Given the description of an element on the screen output the (x, y) to click on. 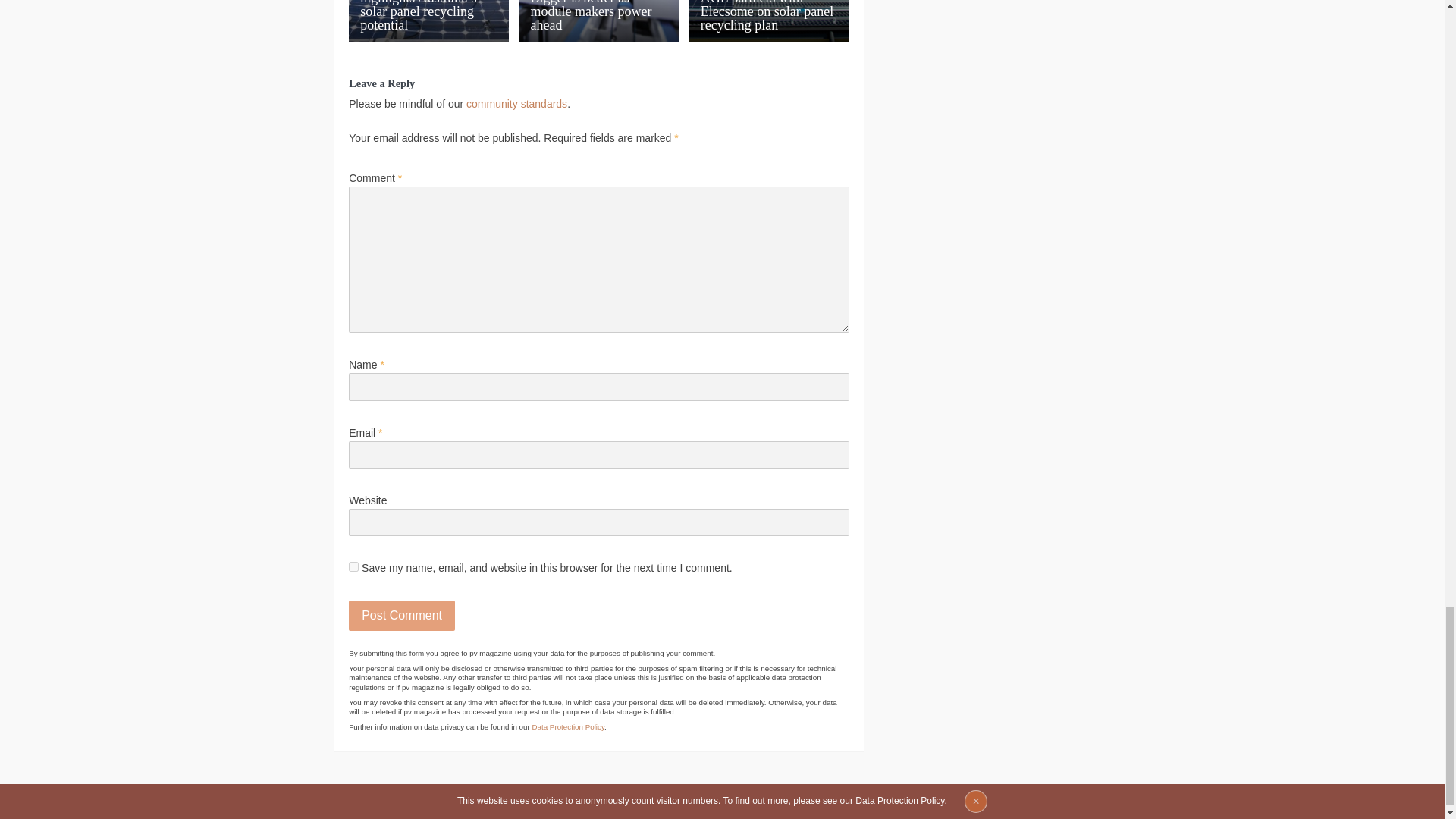
yes (353, 566)
Post Comment (401, 615)
